Given the description of an element on the screen output the (x, y) to click on. 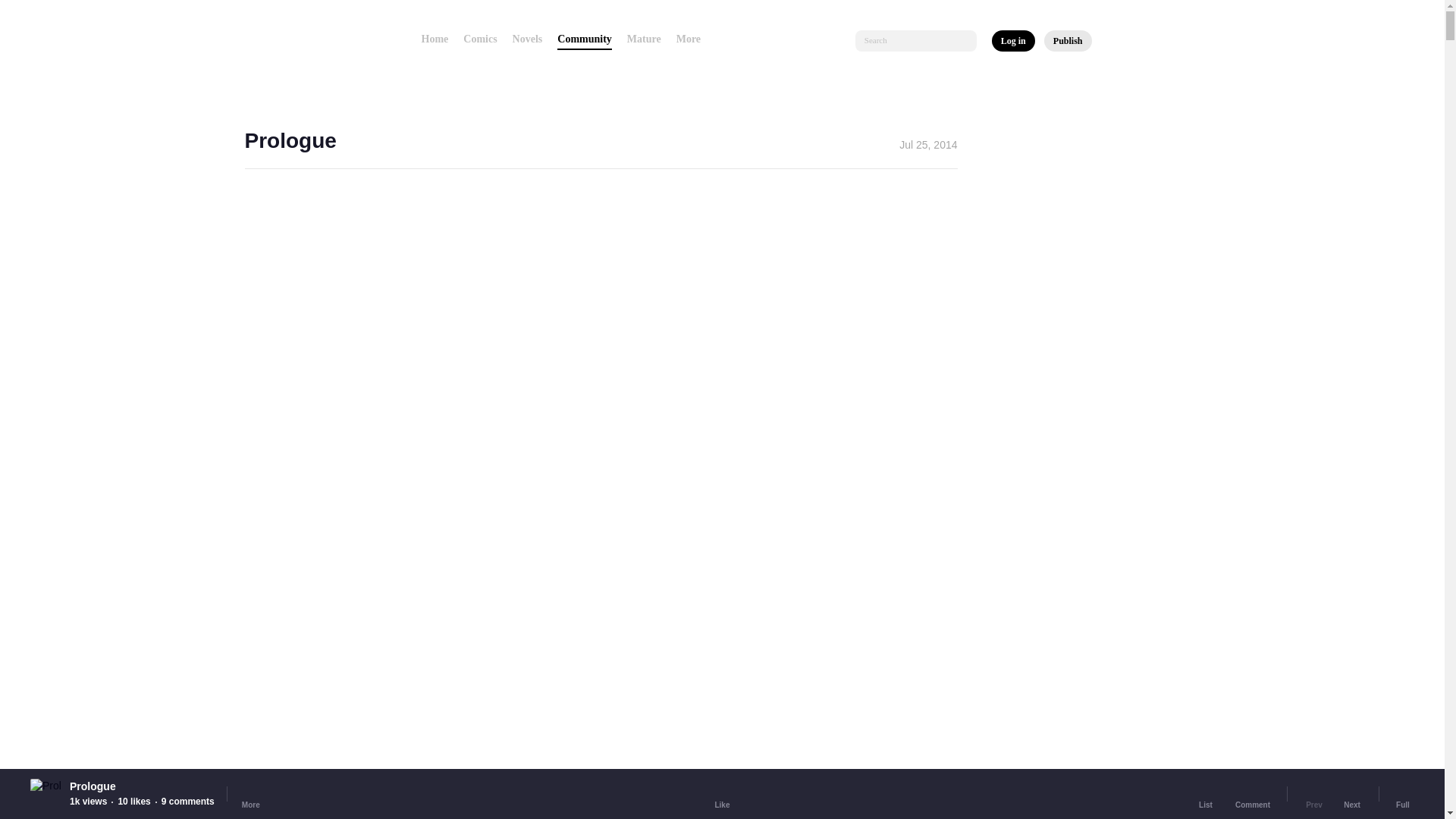
Publish (1067, 40)
Home (435, 38)
Community (584, 38)
Mature (644, 38)
Log in (1013, 40)
Novels (527, 38)
More (693, 38)
Comics (479, 38)
